Given the description of an element on the screen output the (x, y) to click on. 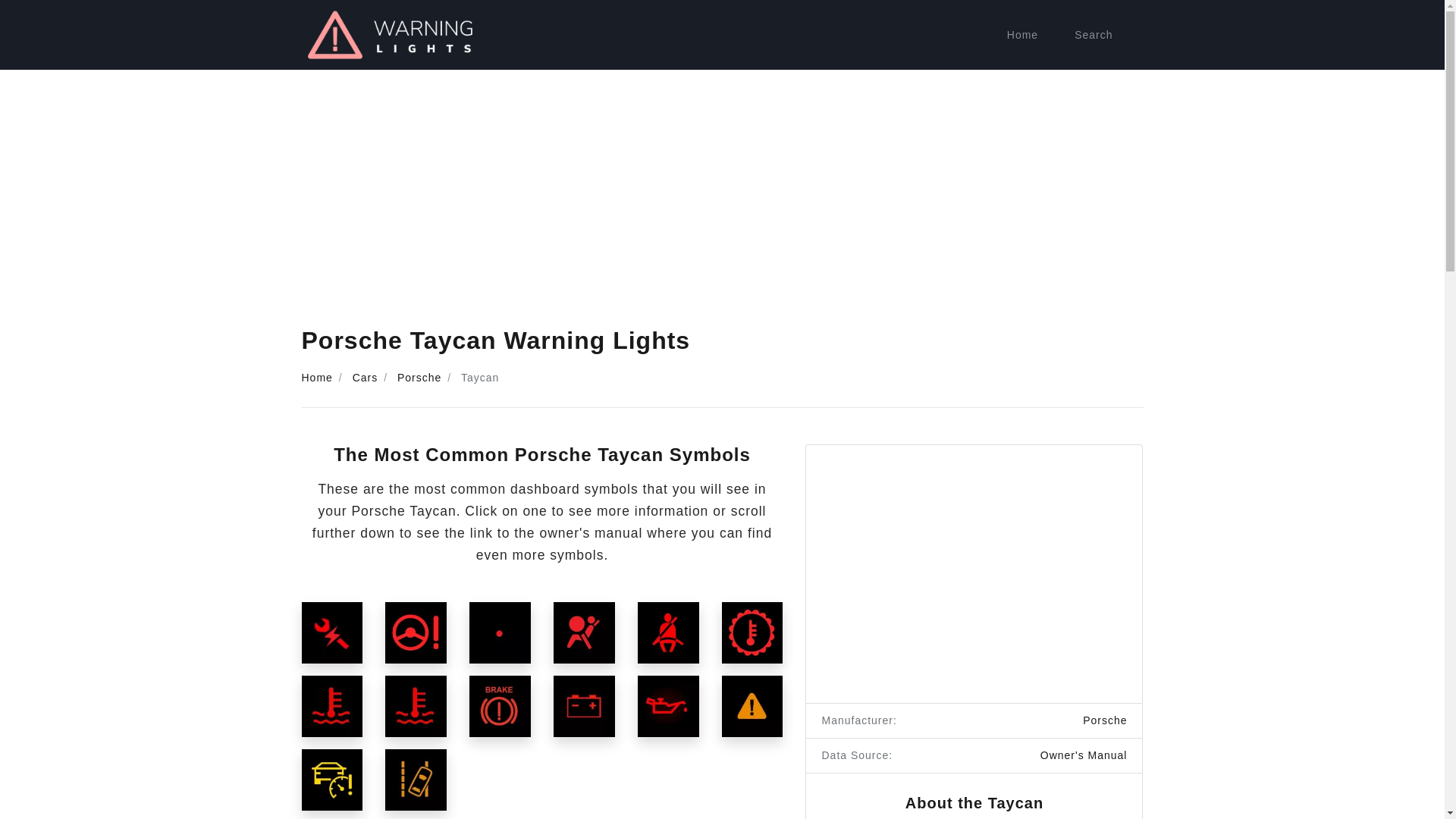
Home (1022, 35)
Cars (365, 377)
Search (1093, 35)
Home (317, 377)
Porsche (419, 377)
Search (1093, 35)
Home (1022, 35)
